Given the description of an element on the screen output the (x, y) to click on. 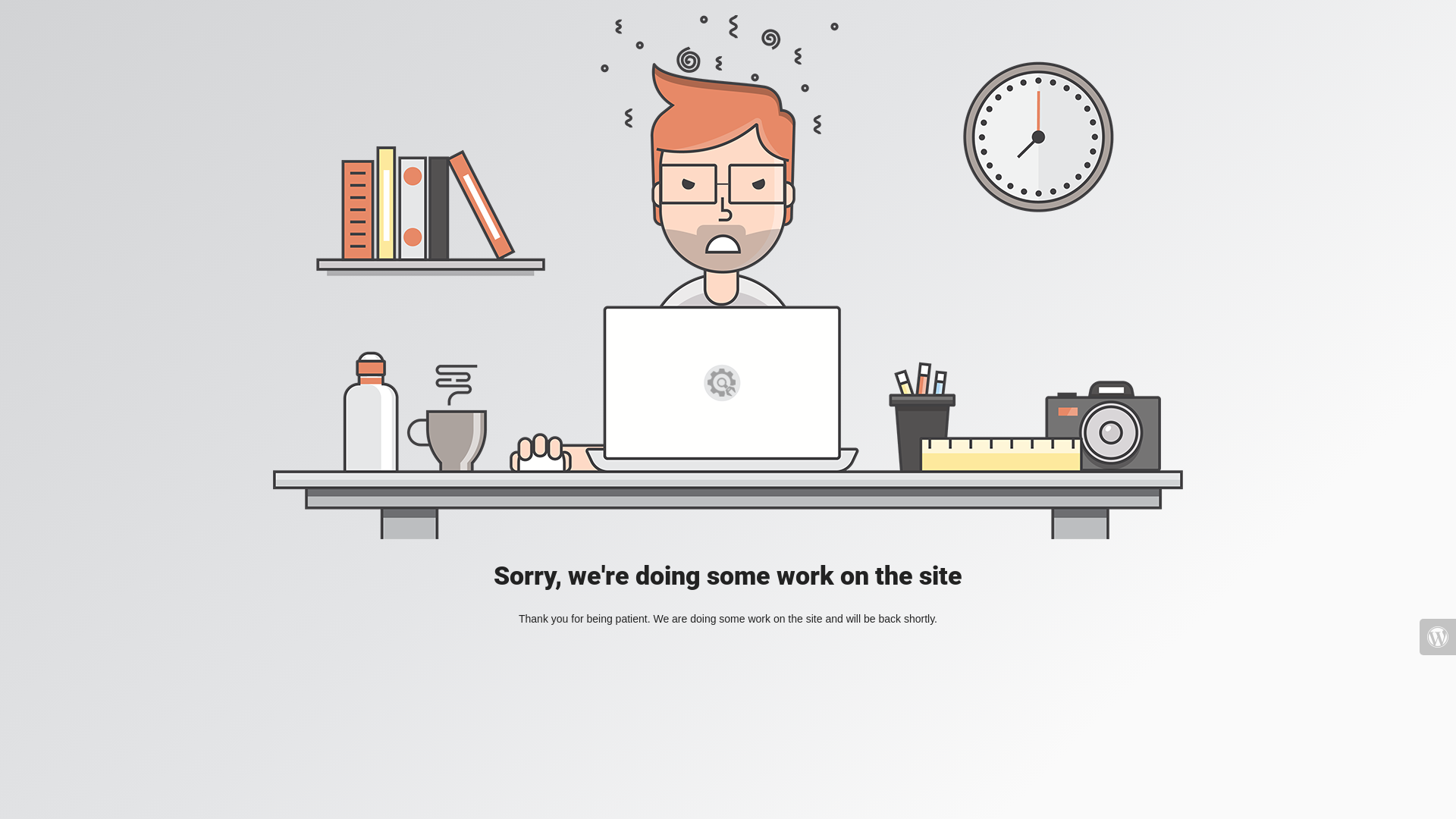
Mad Designer at work Element type: hover (728, 277)
